Given the description of an element on the screen output the (x, y) to click on. 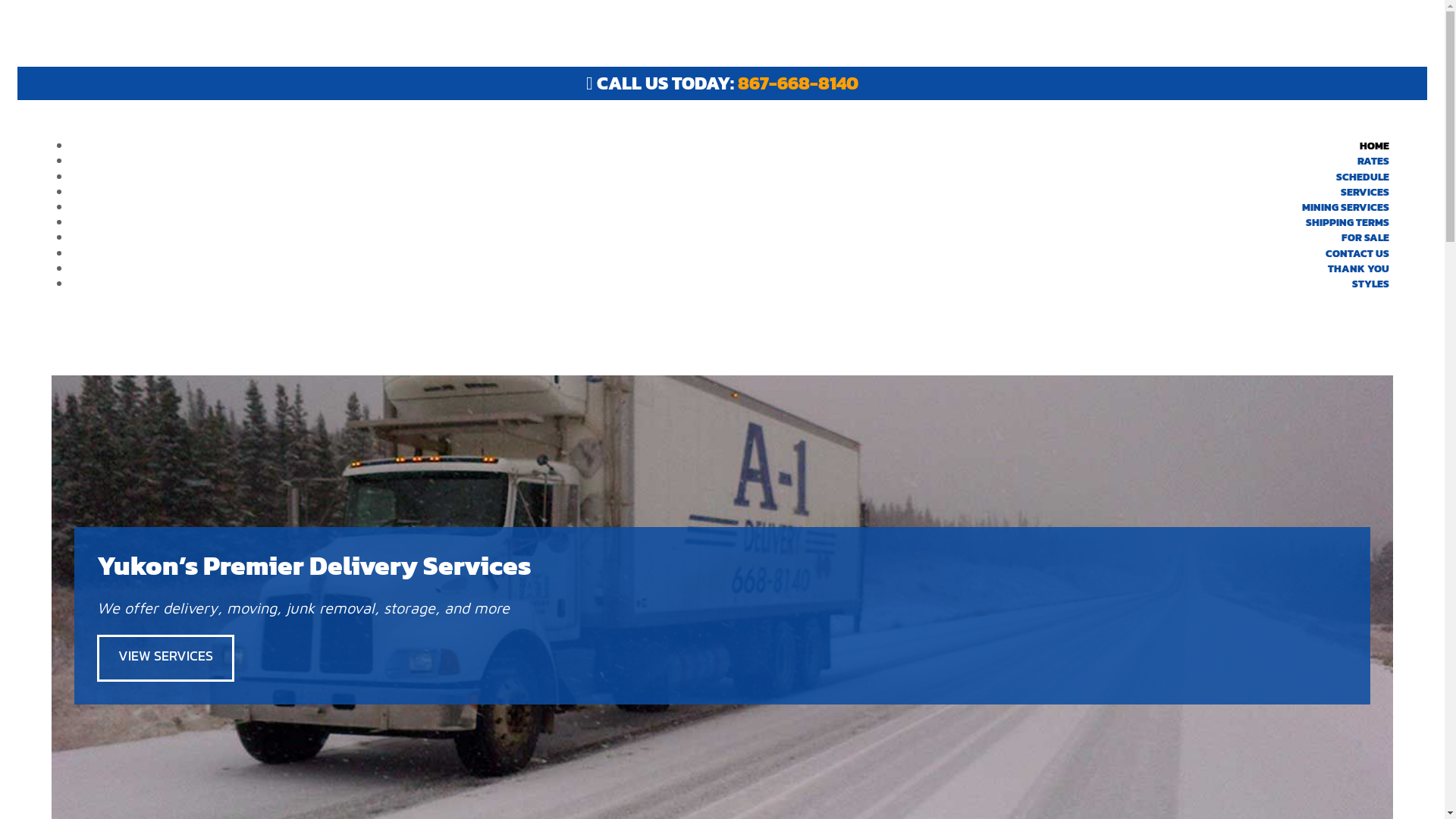
SHIPPING TERMS Element type: text (1347, 222)
RATES Element type: text (1373, 160)
VIEW SERVICES Element type: text (165, 657)
867-668-8140 Element type: text (797, 82)
CONTACT US Element type: text (1357, 252)
THANK YOU Element type: text (1358, 268)
MINING SERVICES Element type: text (1345, 207)
SERVICES Element type: text (1364, 191)
SCHEDULE Element type: text (1362, 176)
STYLES Element type: text (1370, 283)
HOME Element type: text (1374, 145)
FOR SALE Element type: text (1365, 237)
